Given the description of an element on the screen output the (x, y) to click on. 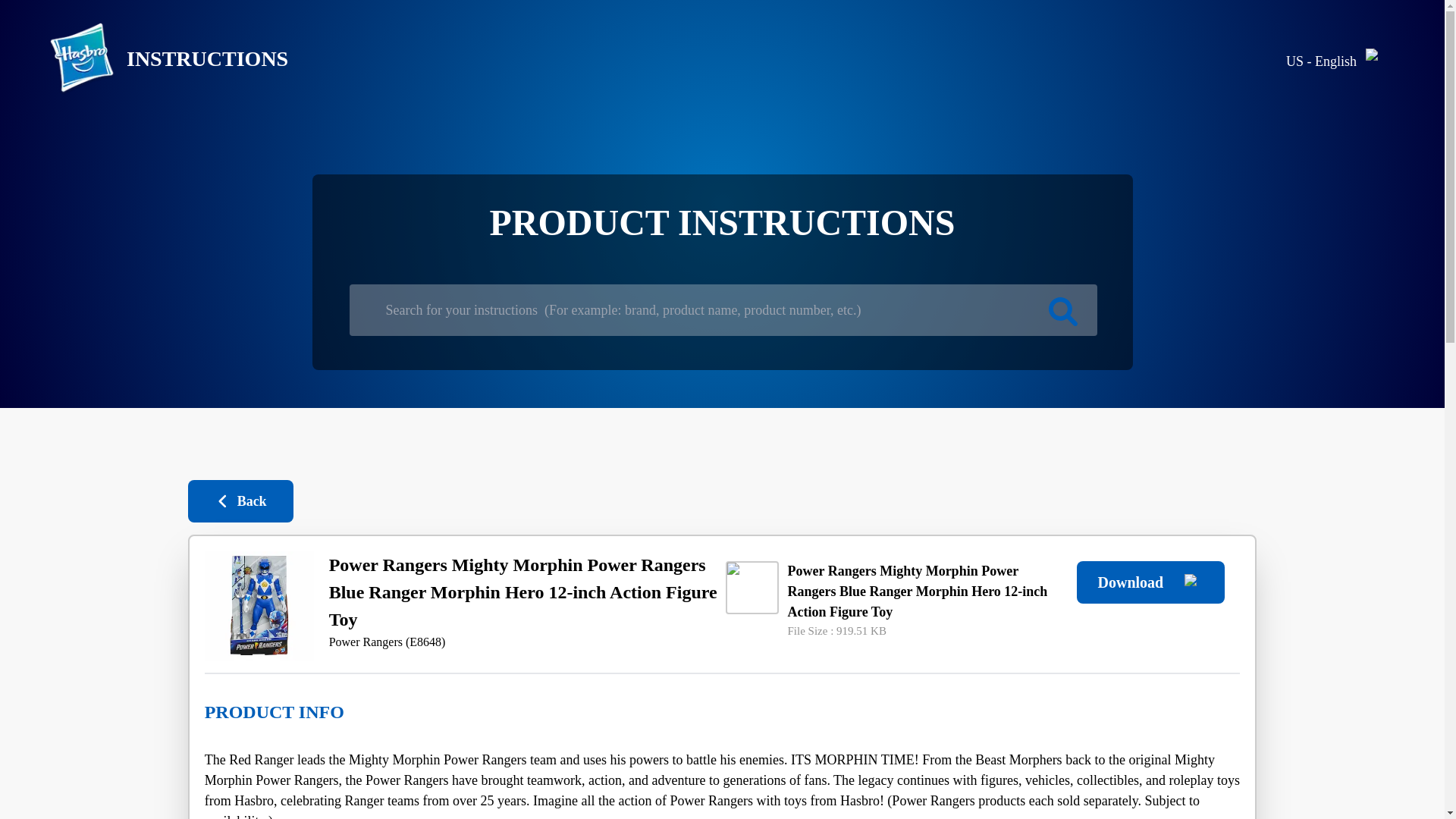
Back (240, 500)
Download (1150, 582)
INSTRUCTIONS (156, 59)
